Given the description of an element on the screen output the (x, y) to click on. 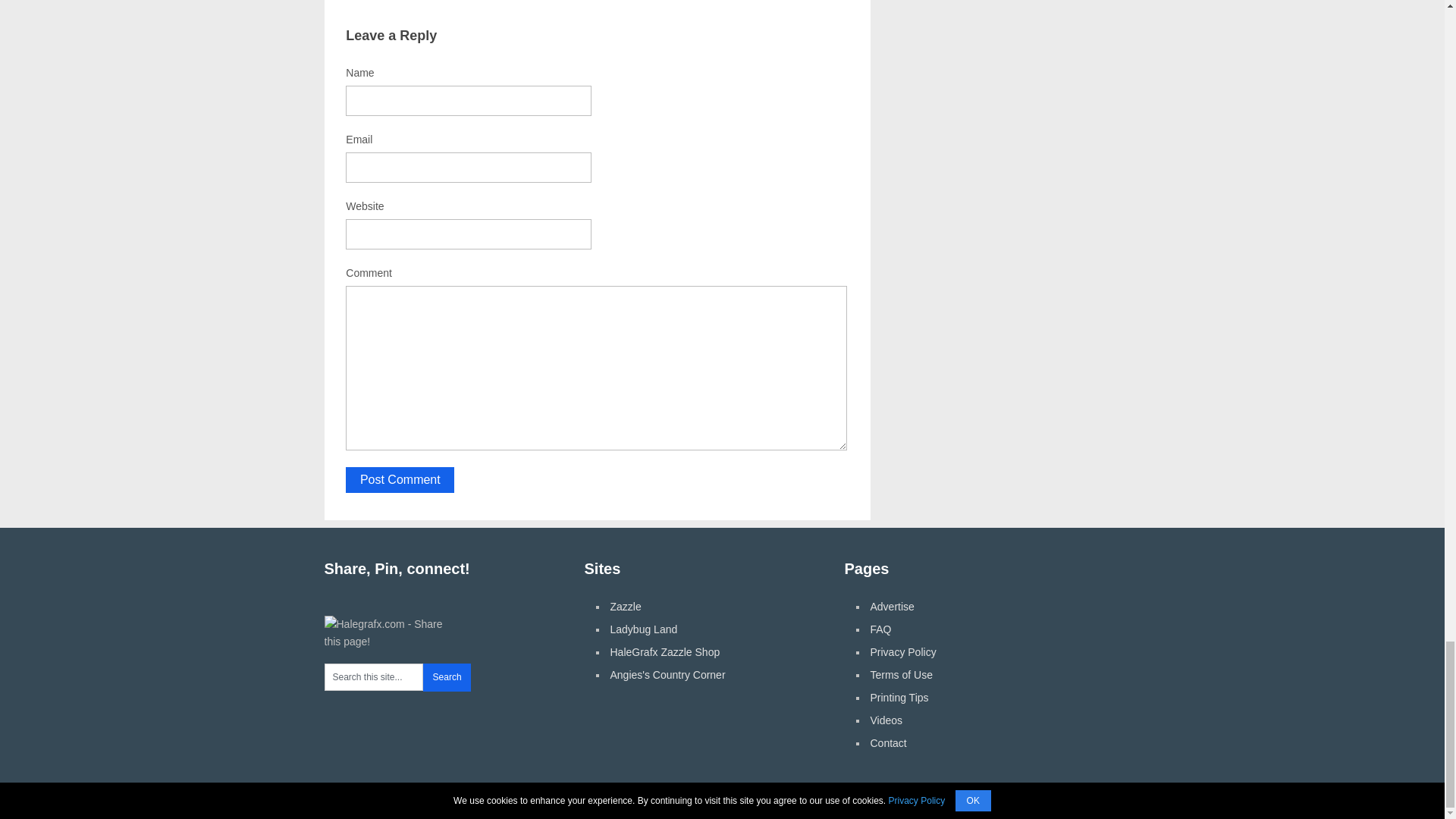
Post Comment (400, 479)
Search this site... (373, 677)
Post Comment (400, 479)
Search (446, 677)
